Given the description of an element on the screen output the (x, y) to click on. 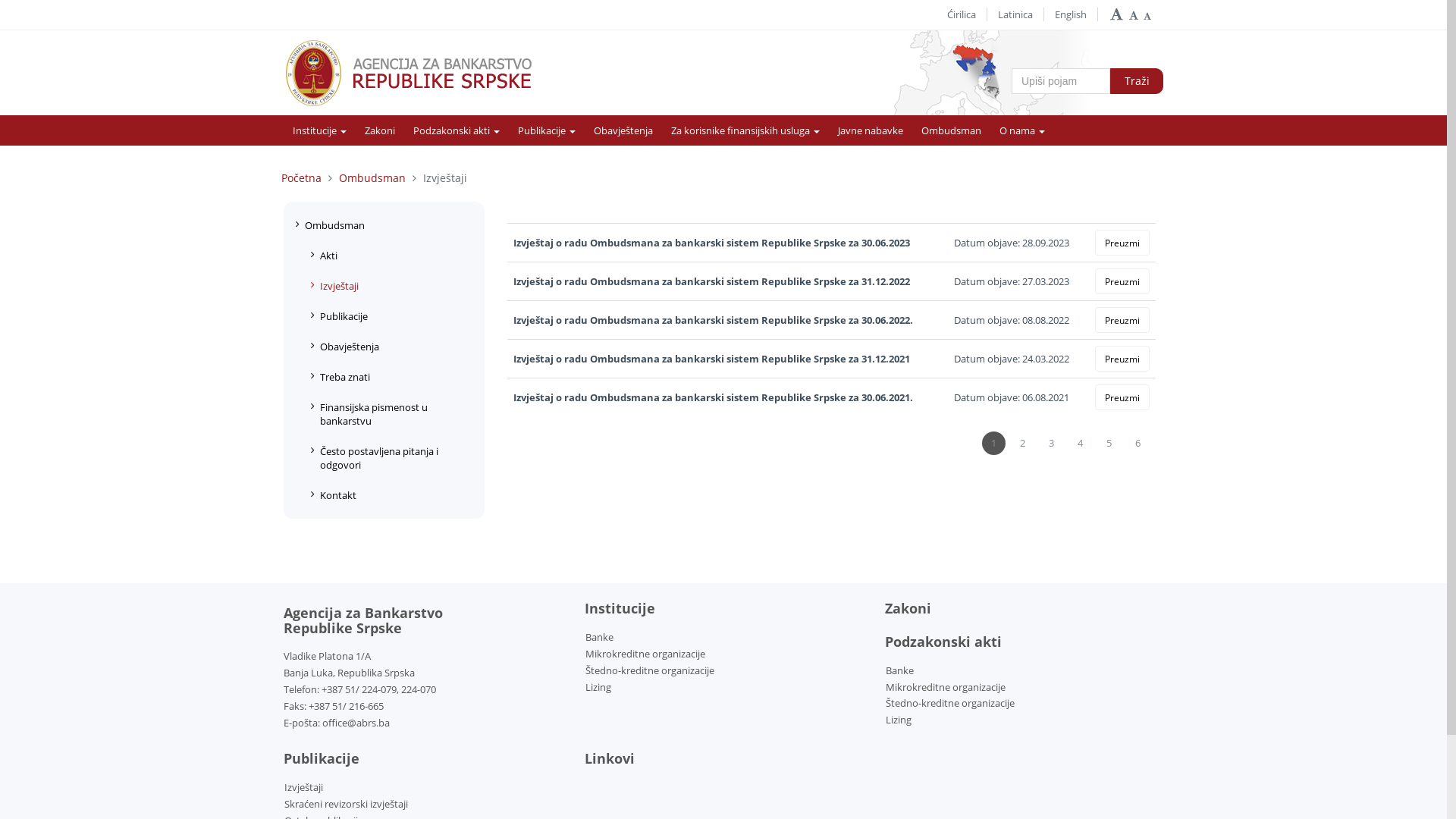
Javne nabavke Element type: text (870, 130)
Linkovi Element type: text (723, 758)
office@abrs.ba Element type: text (355, 722)
English Element type: text (1070, 14)
Ombudsman Element type: text (371, 177)
Publikacije Element type: text (546, 130)
Ombudsman Element type: text (383, 225)
Latinica Element type: text (1014, 14)
5 Element type: text (1108, 443)
Za korisnike finansijskih usluga Element type: text (745, 130)
3 Element type: text (1051, 443)
6 Element type: text (1137, 443)
Akti Element type: text (391, 255)
Banke Element type: text (599, 636)
Lizing Element type: text (598, 686)
Treba znati Element type: text (391, 376)
Finansijska pismenost u bankarstvu Element type: text (391, 413)
Banke Element type: text (899, 670)
Podzakonski akti Element type: text (456, 130)
2 Element type: text (1022, 443)
O nama Element type: text (1022, 130)
Preuzmi Element type: text (1122, 281)
Ombudsman Element type: text (951, 130)
Publikacije Element type: text (391, 316)
Preuzmi Element type: text (1122, 242)
Mikrokreditne organizacije Element type: text (945, 686)
4 Element type: text (1080, 443)
Zakoni Element type: text (1023, 608)
Preuzmi Element type: text (1122, 397)
Preuzmi Element type: text (1122, 358)
Zakoni Element type: text (379, 130)
Lizing Element type: text (898, 719)
Institucije Element type: text (319, 130)
Kontakt Element type: text (391, 495)
Preuzmi Element type: text (1122, 319)
Mikrokreditne organizacije Element type: text (645, 653)
